Given the description of an element on the screen output the (x, y) to click on. 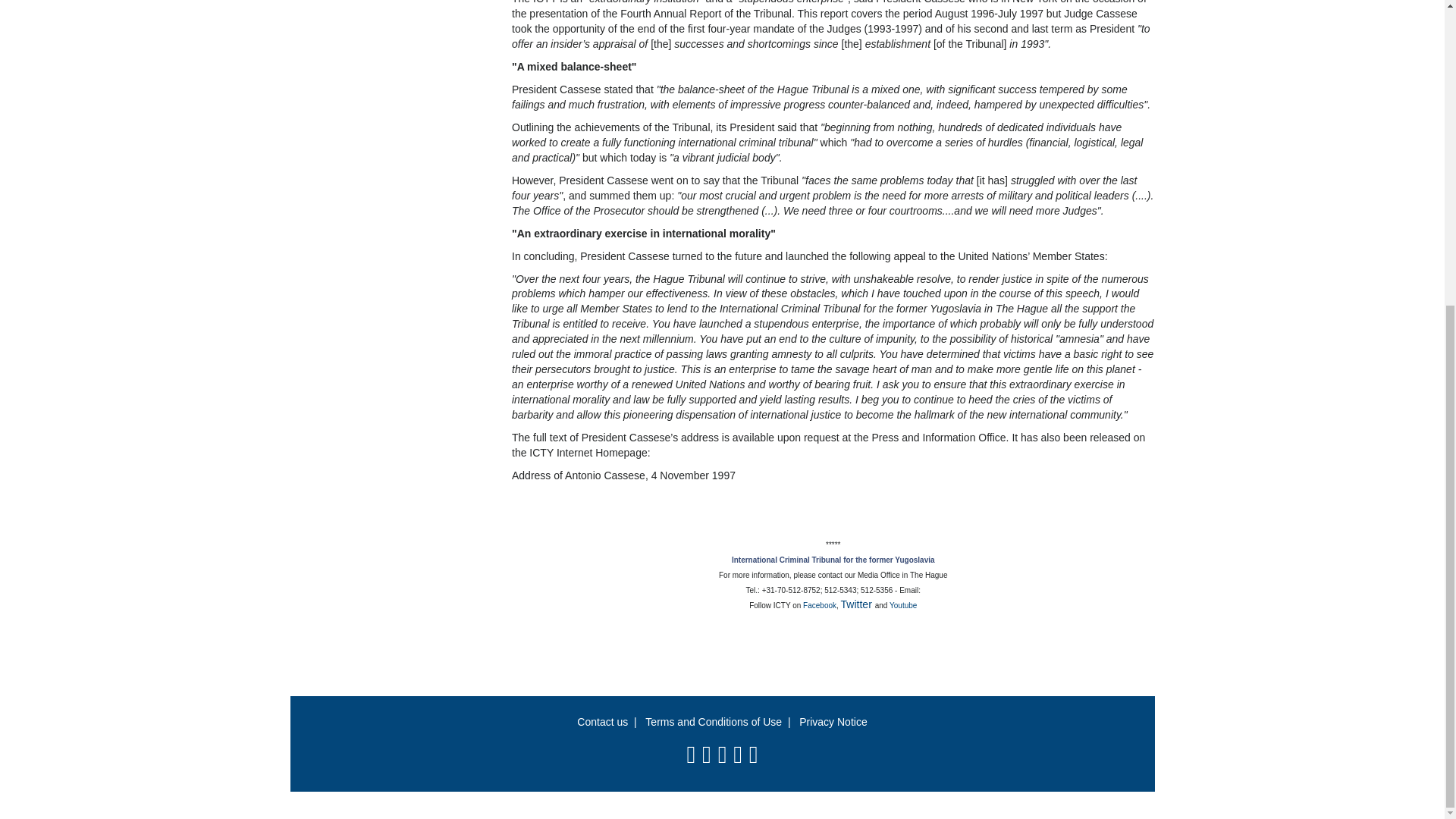
Contact us (601, 721)
Facebook (819, 605)
Twitter (858, 604)
Terms and Conditions of Use (713, 721)
Privacy Notice (832, 721)
Youtube (903, 605)
